Given the description of an element on the screen output the (x, y) to click on. 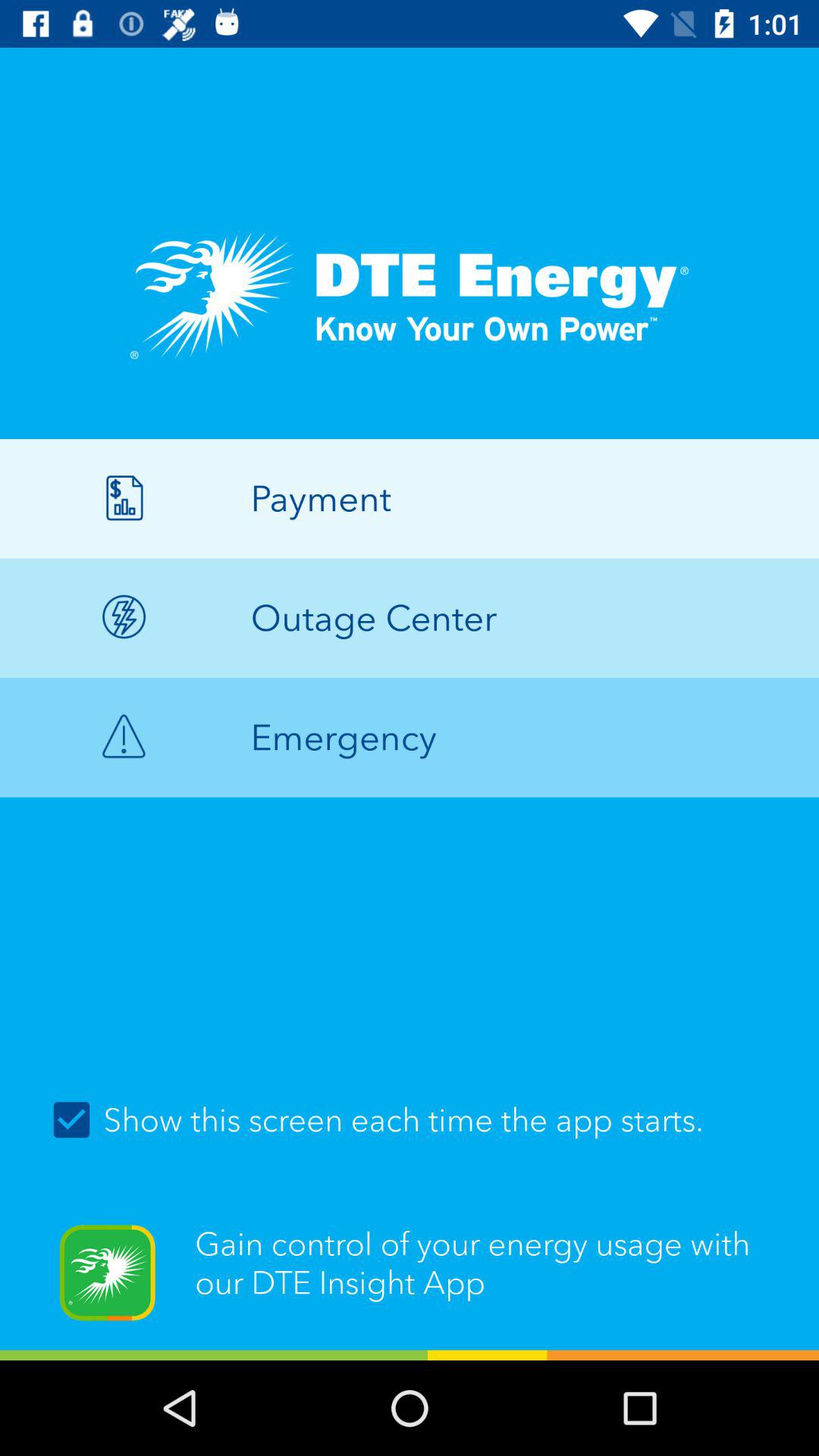
launch icon above the emergency (409, 617)
